Given the description of an element on the screen output the (x, y) to click on. 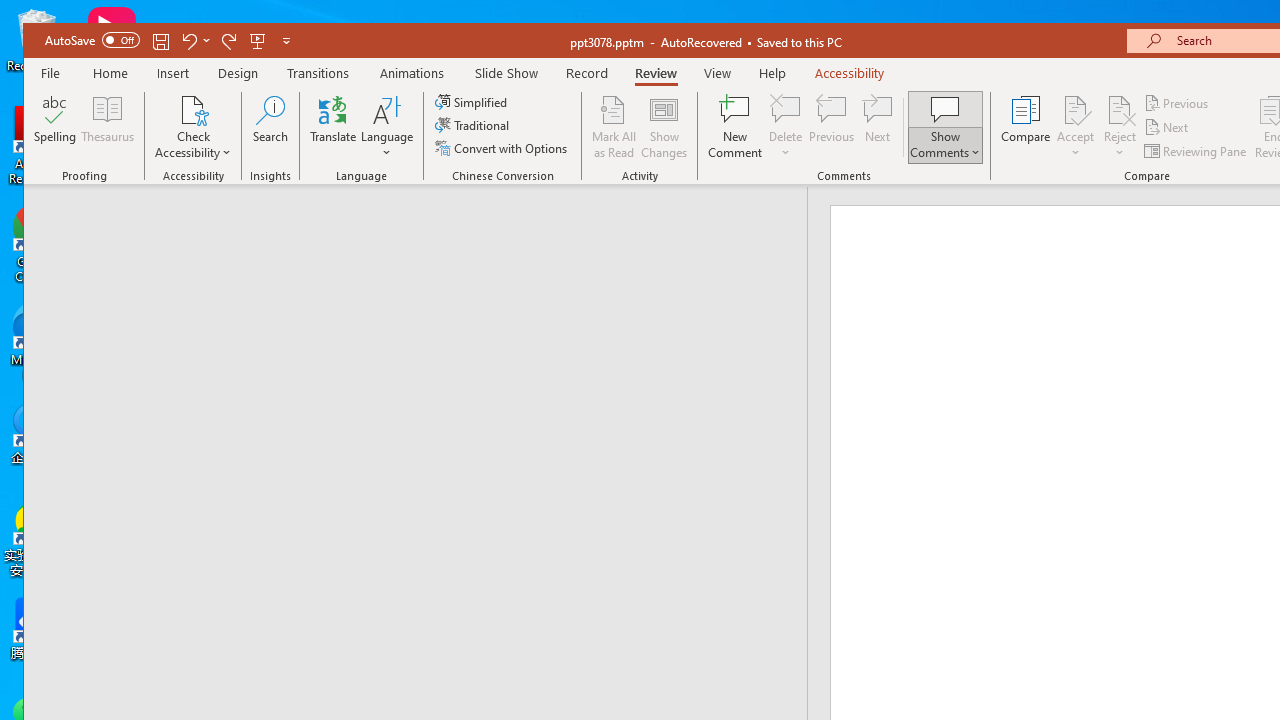
Mark All as Read (614, 127)
Search (270, 127)
Reviewing Pane (1196, 150)
